Given the description of an element on the screen output the (x, y) to click on. 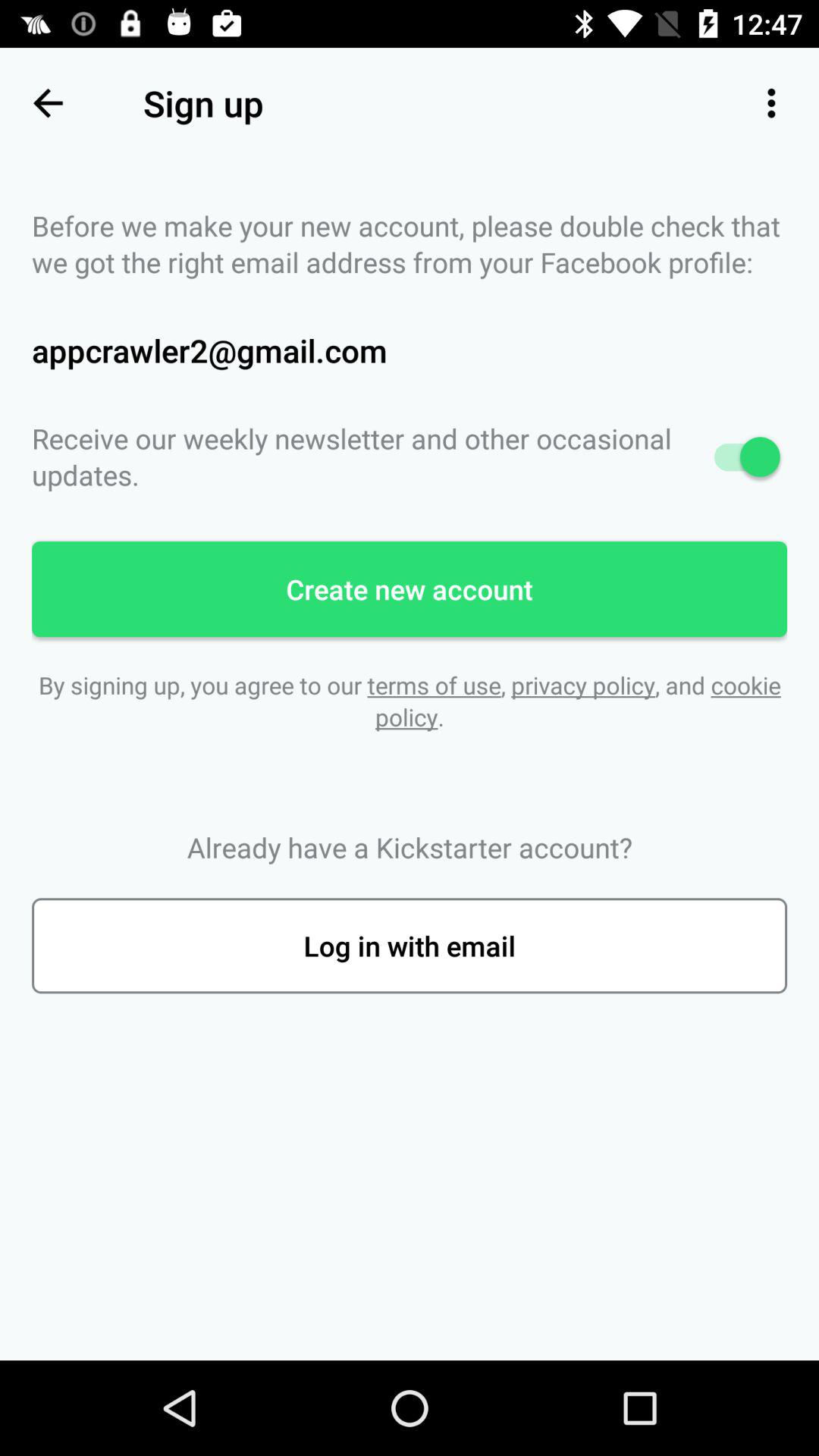
press the item below create new account icon (409, 700)
